Given the description of an element on the screen output the (x, y) to click on. 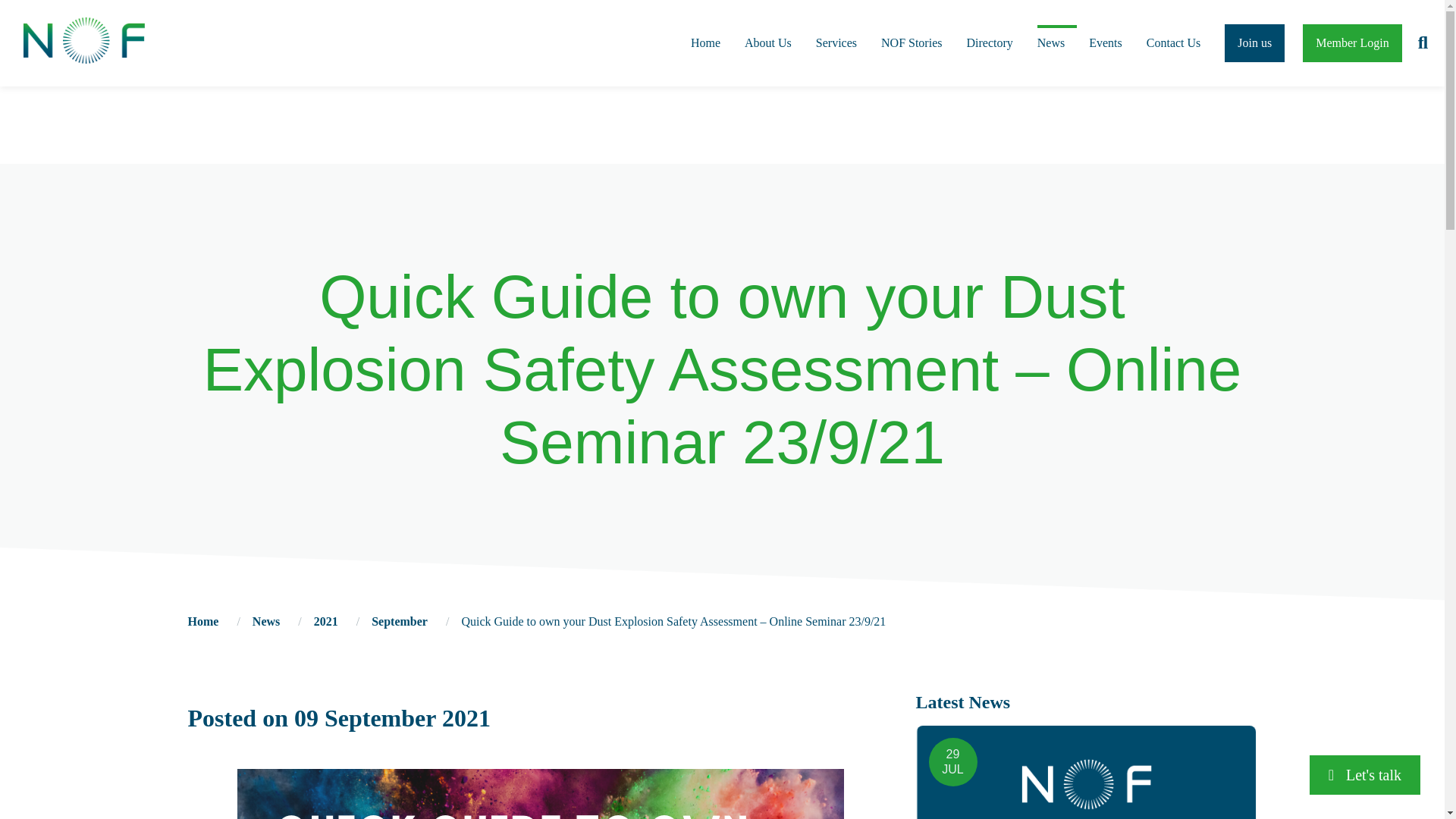
cookie policy. (876, 19)
Got it! (721, 46)
News (265, 621)
Home (203, 621)
Let's talk (1364, 774)
2021 (325, 621)
